Given the description of an element on the screen output the (x, y) to click on. 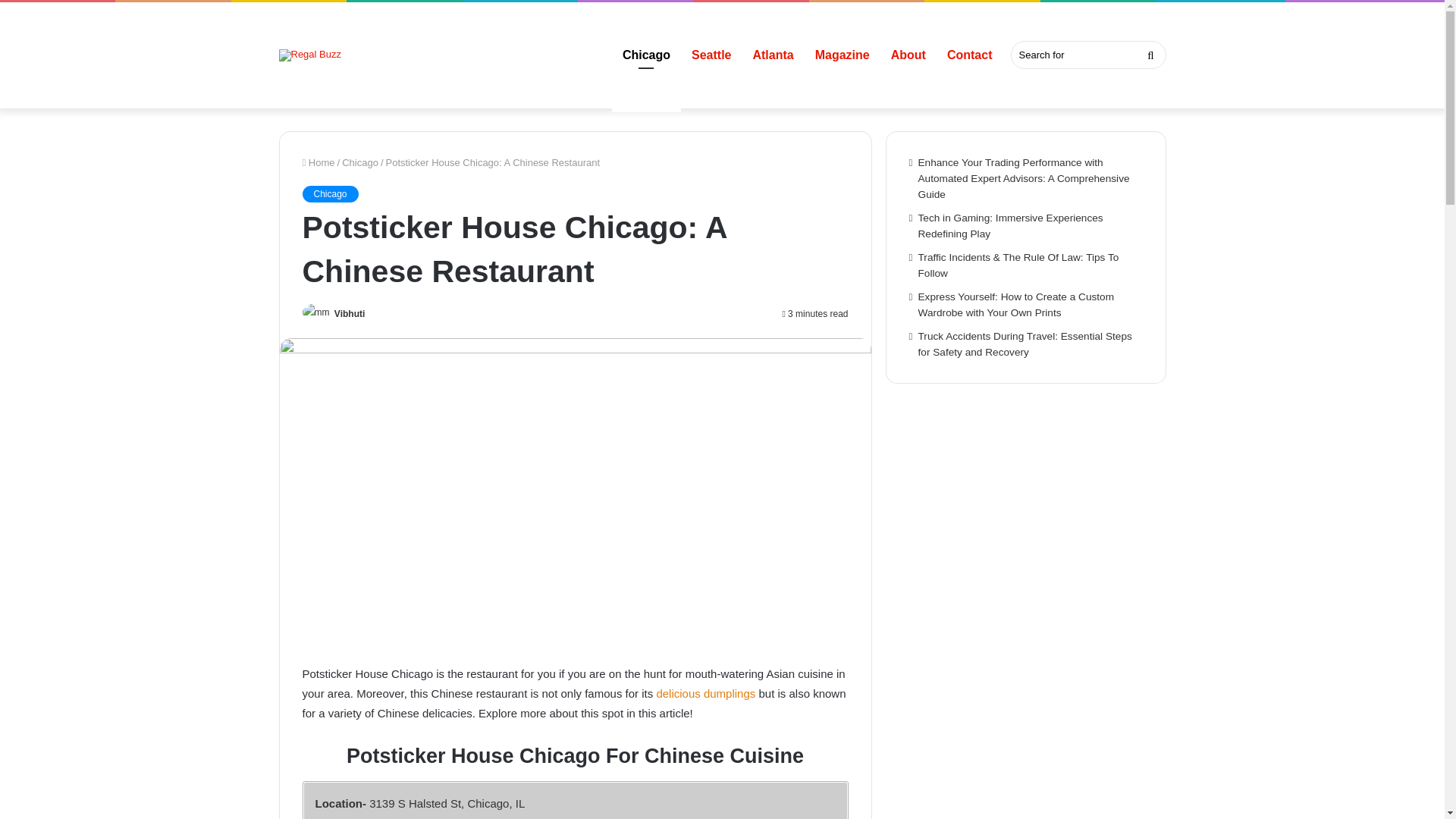
Chicago (360, 162)
delicious dumplings (705, 693)
Chicago (329, 193)
Vibhuti (349, 313)
Regal Buzz (309, 55)
Tech in Gaming: Immersive Experiences Redefining Play (1010, 225)
Vibhuti (349, 313)
Search for (1088, 54)
